Given the description of an element on the screen output the (x, y) to click on. 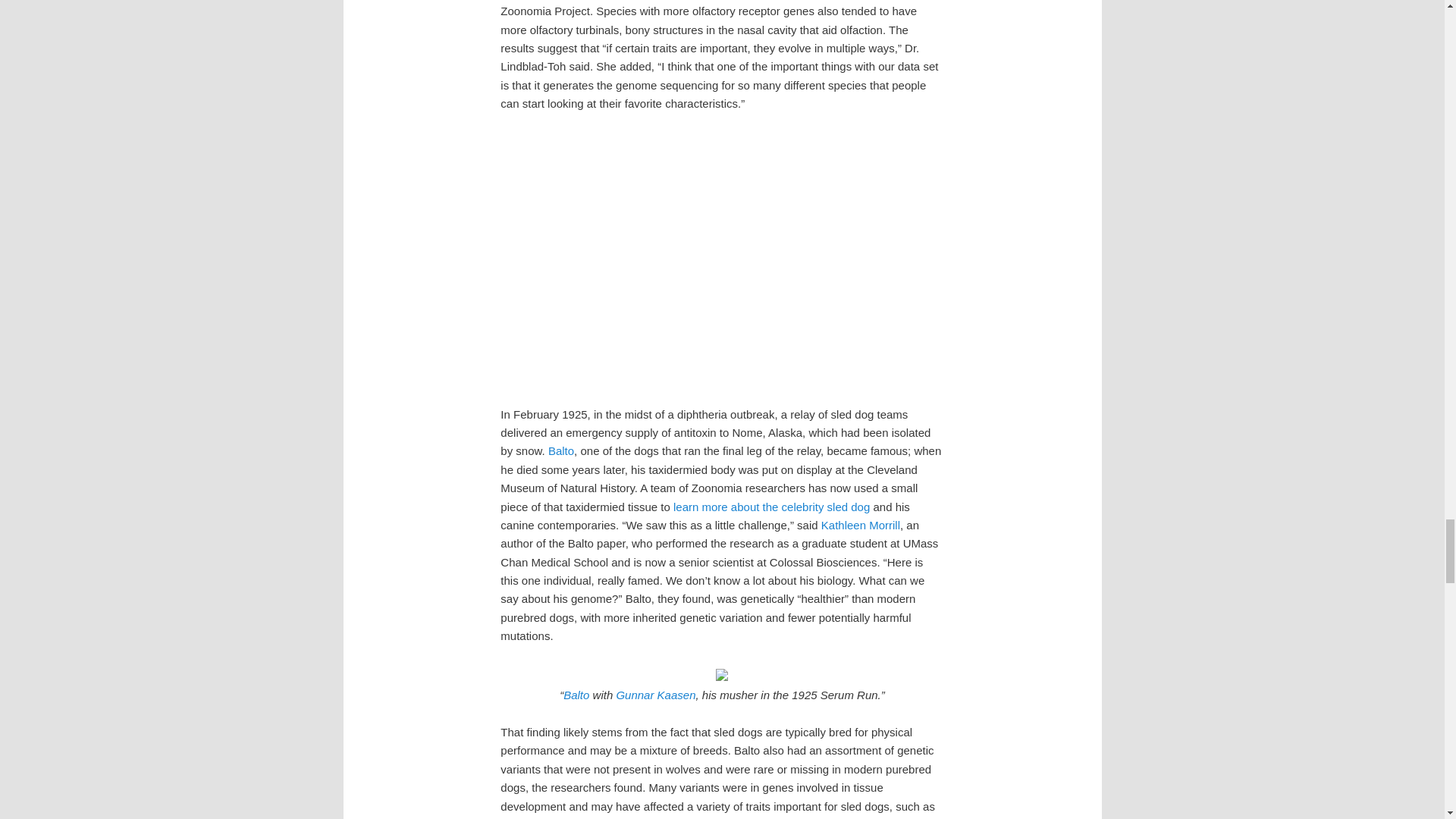
Gunnar Kaasen (655, 694)
Balto (560, 450)
learn more about the celebrity sled dog (770, 506)
